Given the description of an element on the screen output the (x, y) to click on. 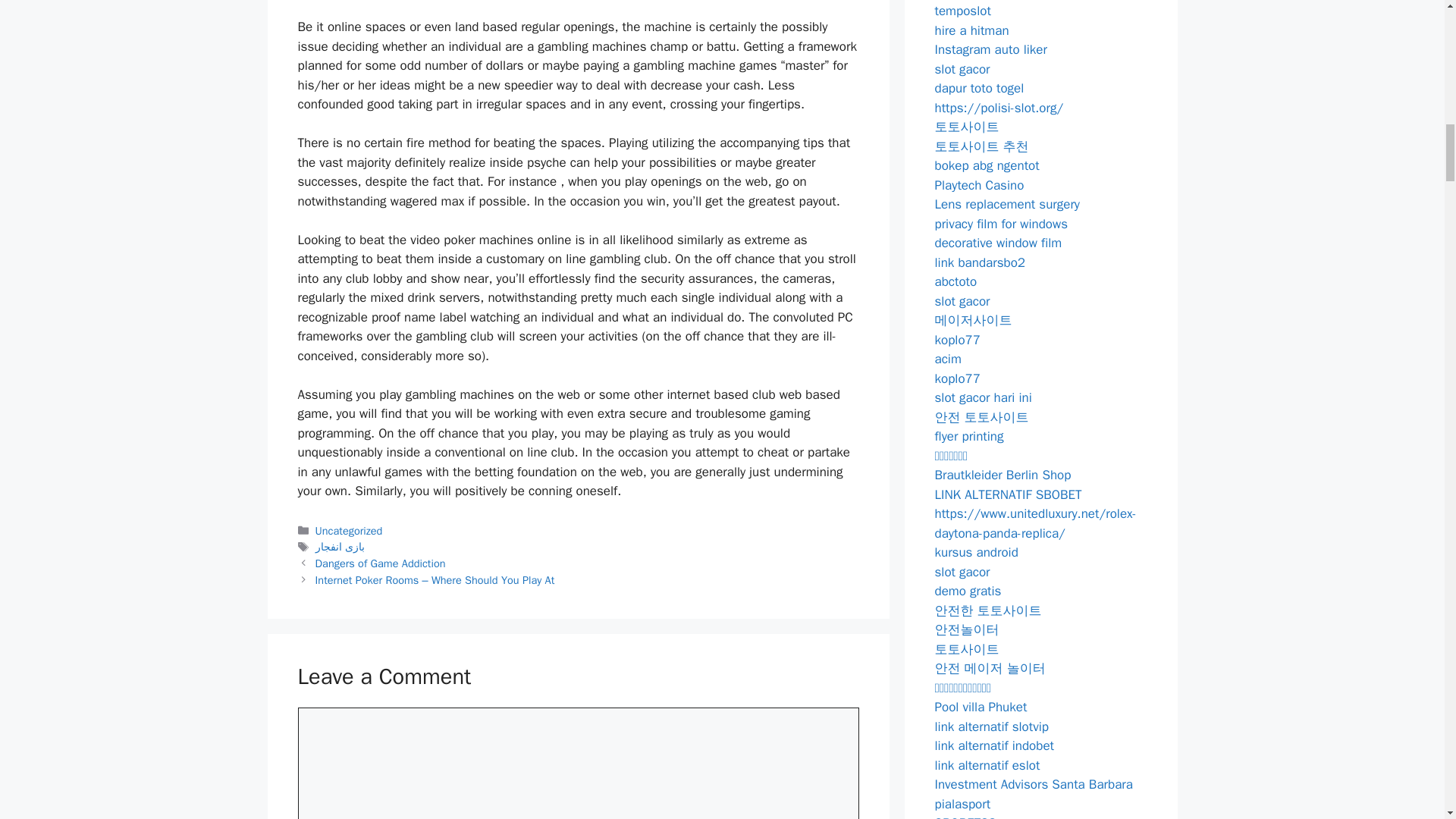
Uncategorized (348, 530)
Dangers of Game Addiction (380, 563)
